Given the description of an element on the screen output the (x, y) to click on. 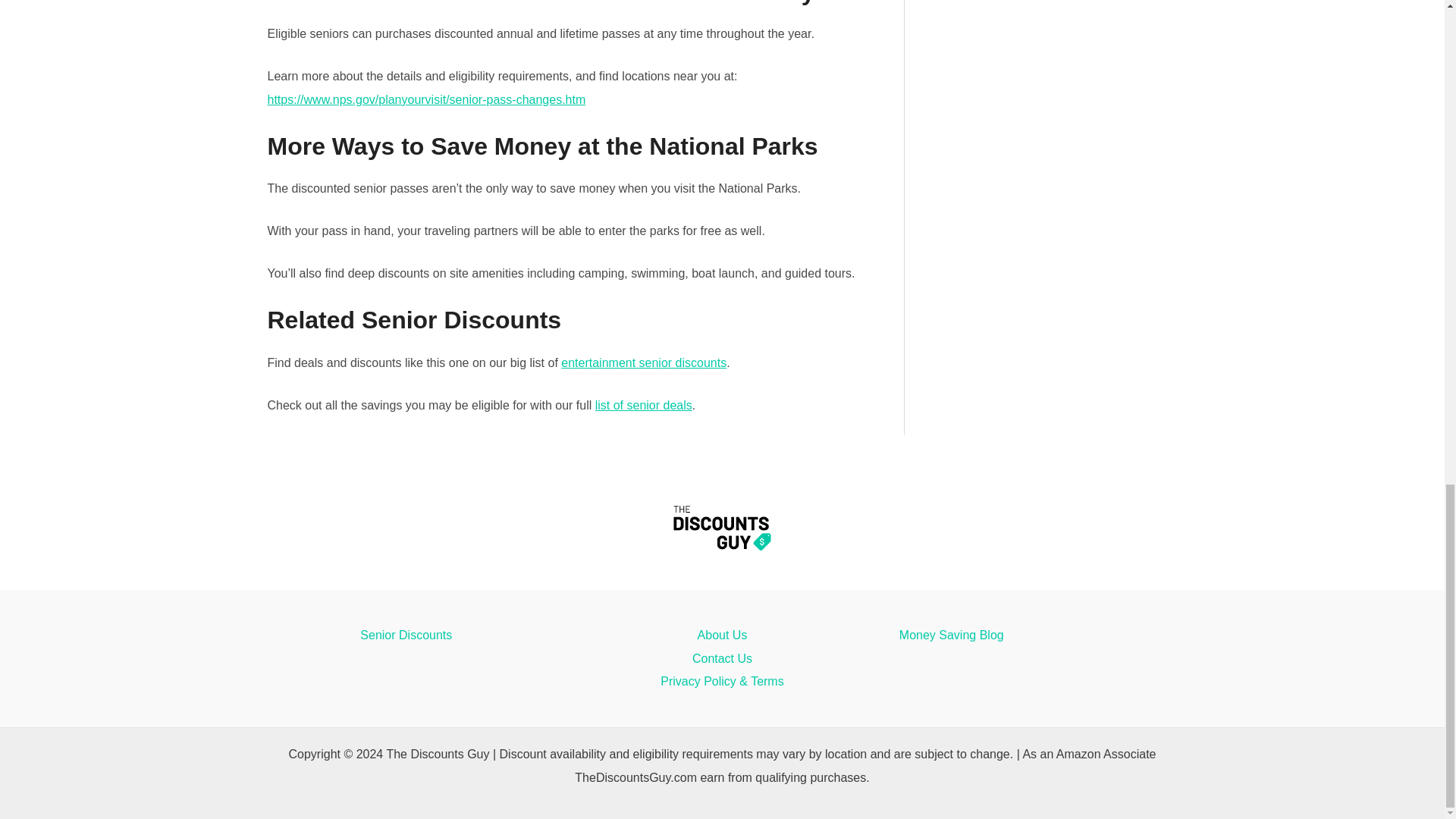
Senior Discounts (405, 634)
About Us (722, 635)
entertainment senior discounts (643, 362)
list of senior deals (644, 404)
Money Saving Blog (951, 634)
Contact Us (722, 658)
